Given the description of an element on the screen output the (x, y) to click on. 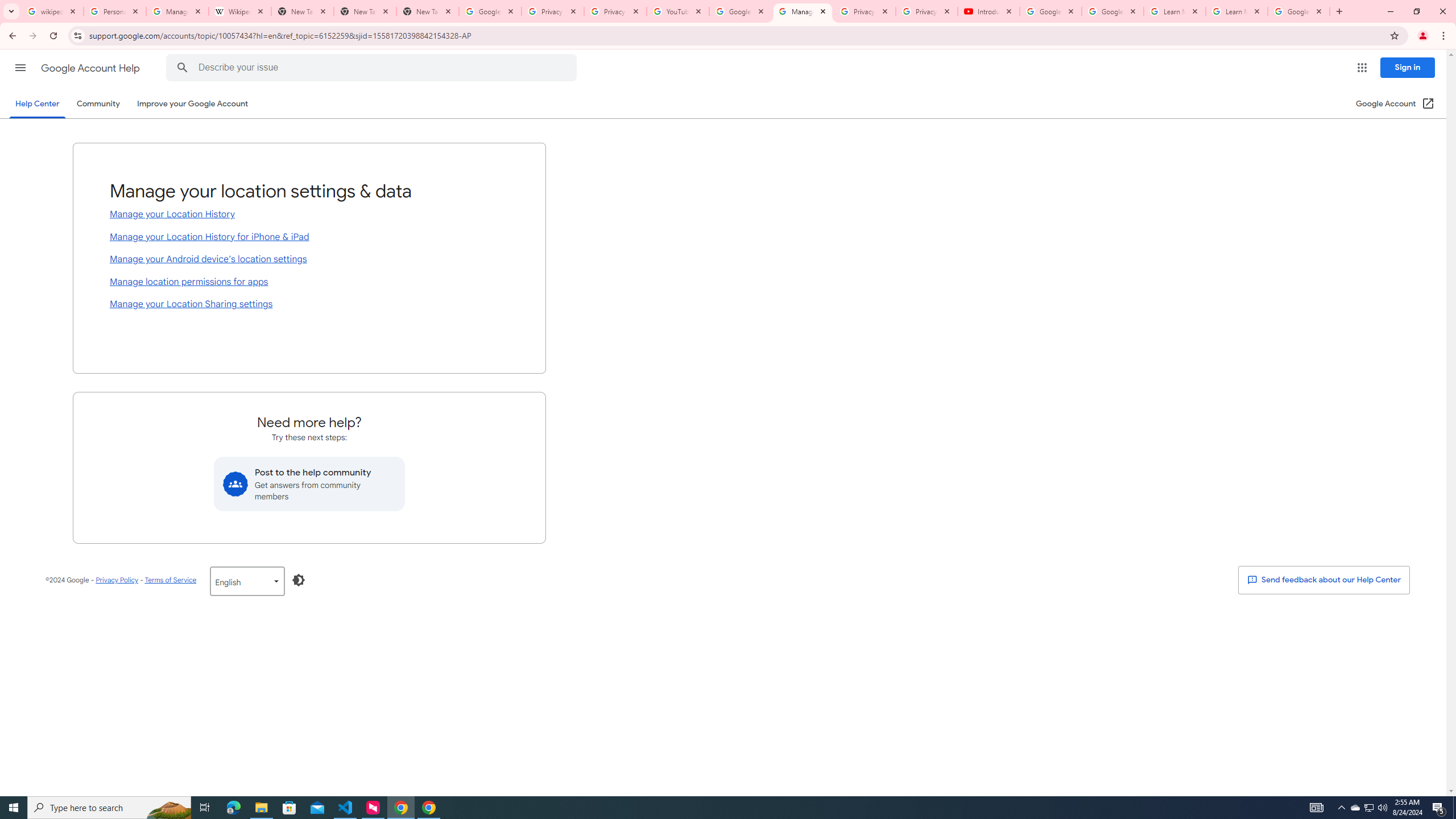
Google Account Help (1050, 11)
Improve your Google Account (192, 103)
Search Help Center (181, 67)
Community (97, 103)
 Send feedback about our Help Center (1323, 579)
Manage location permissions for apps (309, 282)
Google Account (1298, 11)
Manage your Location History (309, 214)
Google Account Help (740, 11)
Personalization & Google Search results - Google Search Help (114, 11)
